Given the description of an element on the screen output the (x, y) to click on. 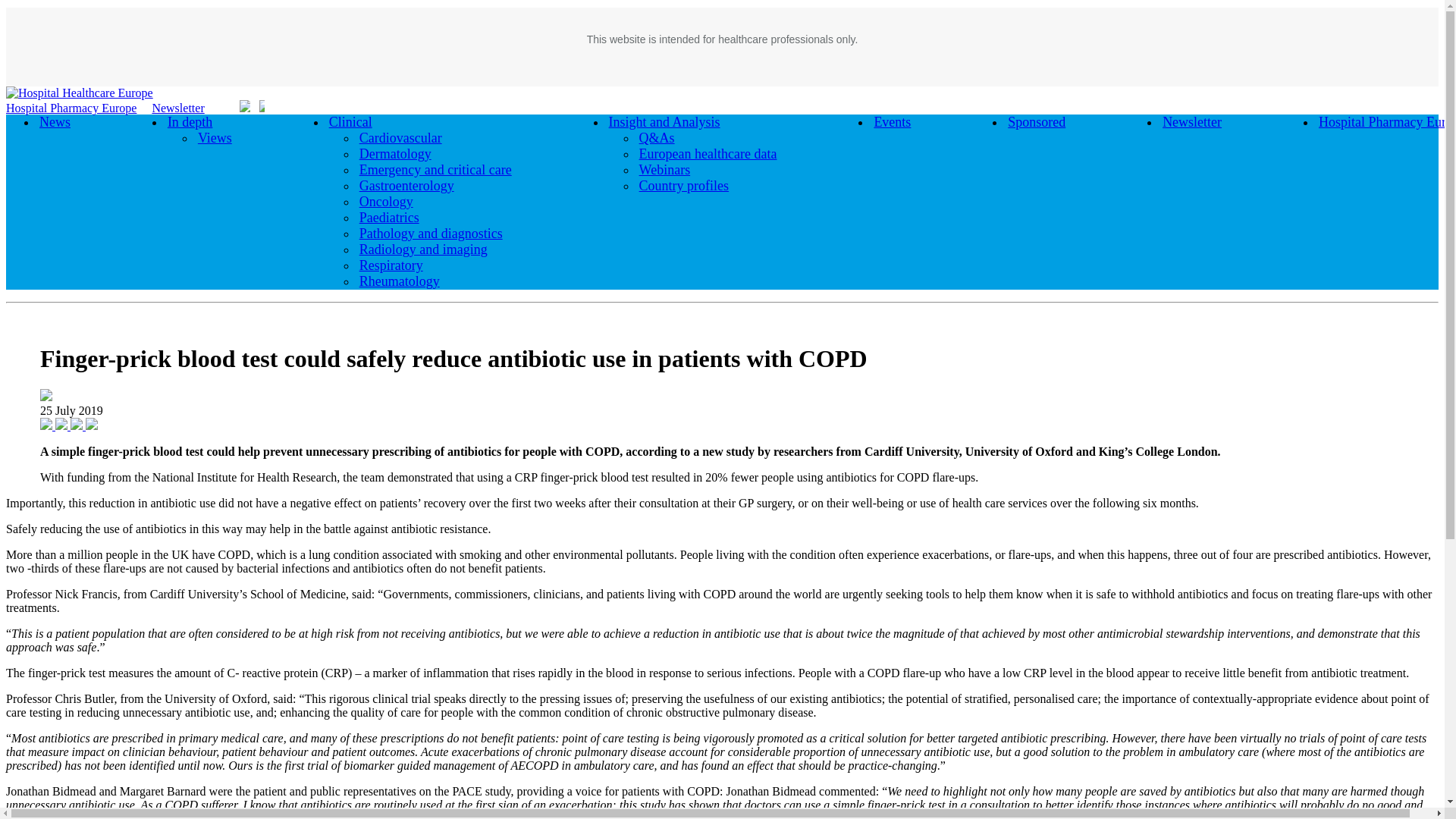
Webinars (665, 169)
Newsletter (1191, 121)
Hospital Pharmacy Europe (70, 107)
Clinical (350, 121)
Sponsored (1036, 121)
In depth (189, 121)
Gastroenterology (406, 185)
Insight and Analysis (664, 121)
Country profiles (684, 185)
News (55, 121)
Paediatrics (389, 217)
Dermatology (394, 153)
Cardiovascular (400, 137)
Events (892, 121)
Oncology (386, 201)
